Given the description of an element on the screen output the (x, y) to click on. 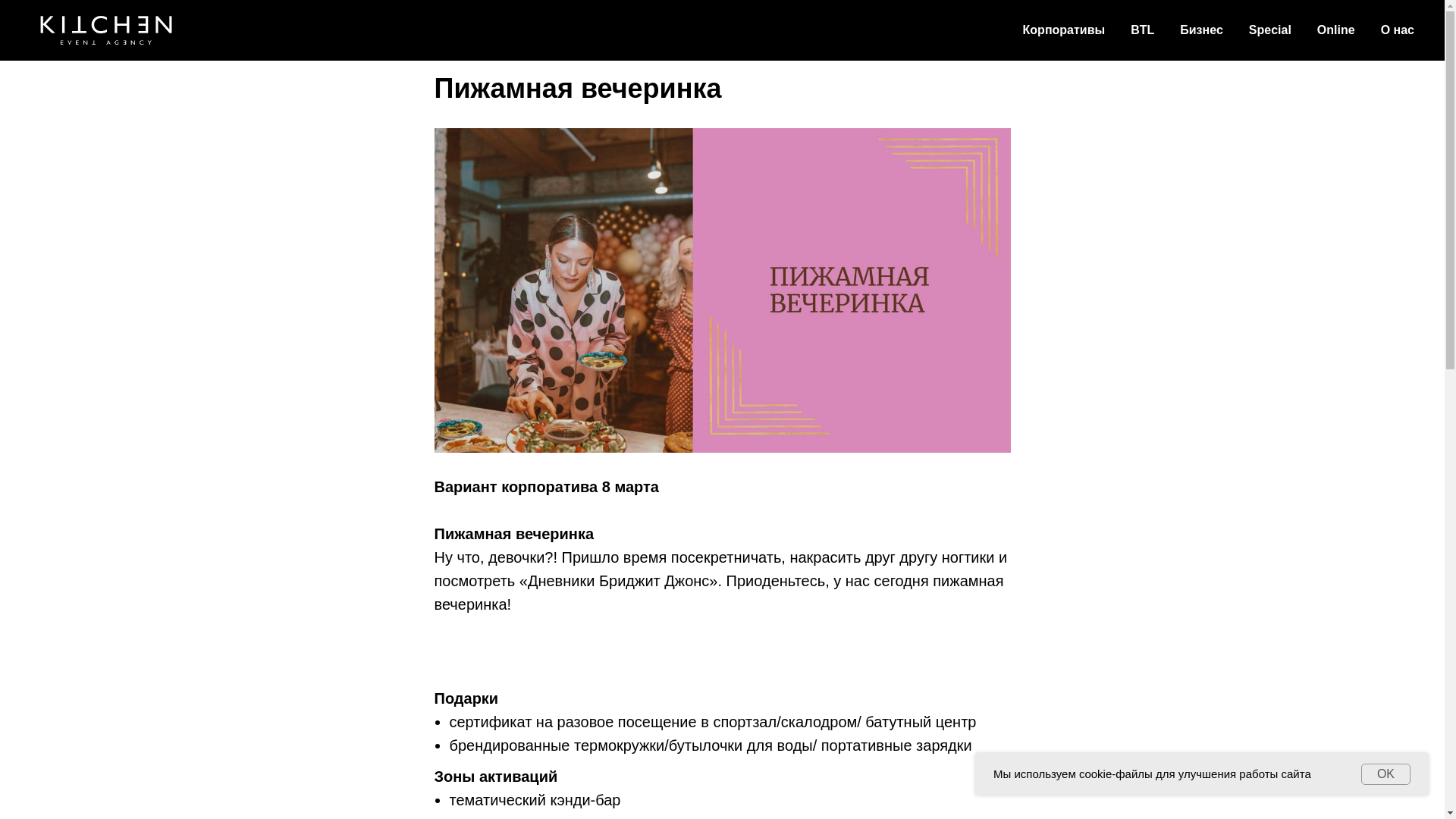
Online Element type: text (1336, 29)
BTL Element type: text (1142, 29)
Special Element type: text (1269, 29)
